Given the description of an element on the screen output the (x, y) to click on. 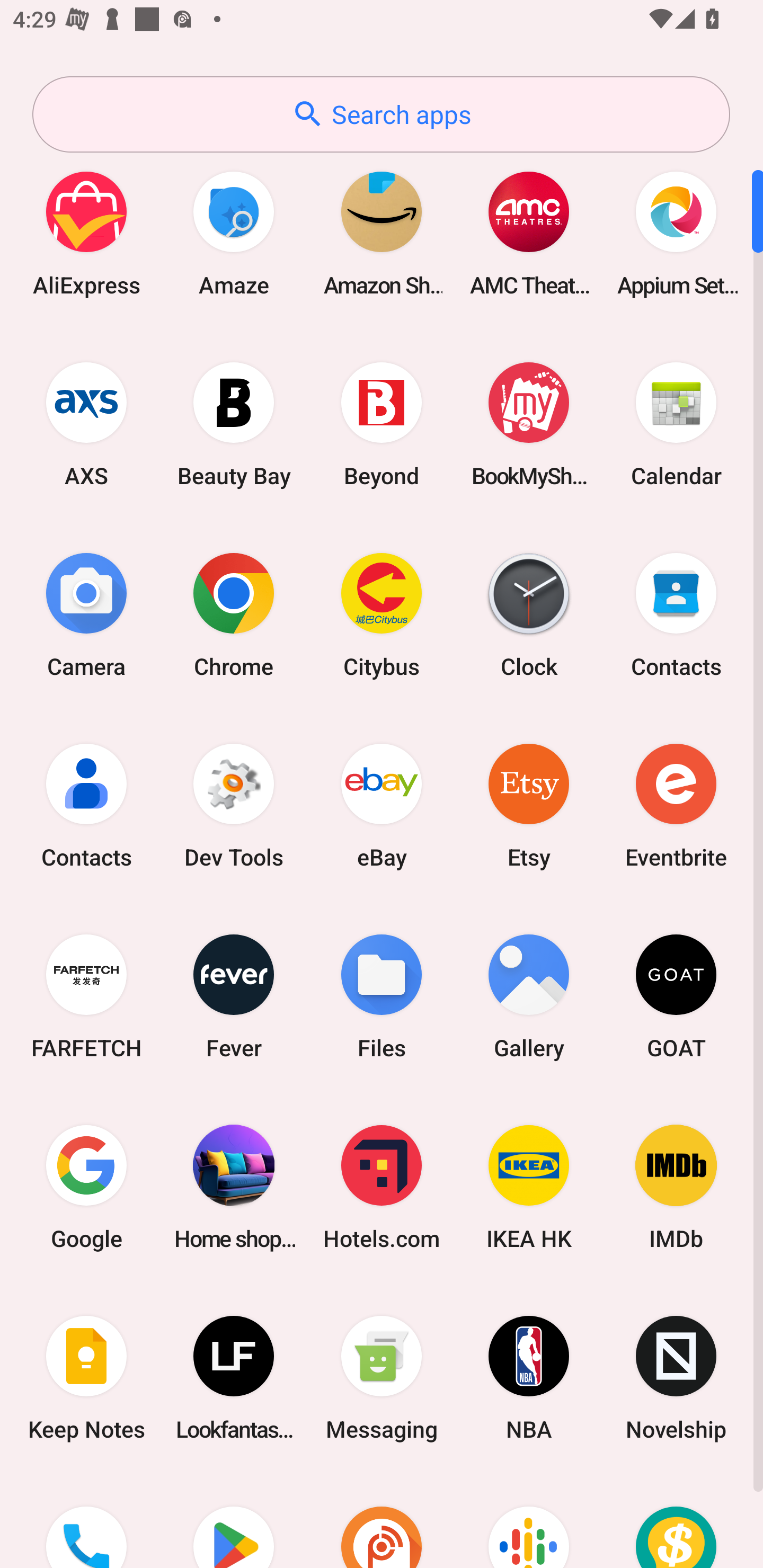
  Search apps (381, 114)
AliExpress (86, 233)
Amaze (233, 233)
Amazon Shopping (381, 233)
AMC Theatres (528, 233)
Appium Settings (676, 233)
AXS (86, 424)
Beauty Bay (233, 424)
Beyond (381, 424)
BookMyShow (528, 424)
Calendar (676, 424)
Camera (86, 614)
Chrome (233, 614)
Citybus (381, 614)
Clock (528, 614)
Contacts (676, 614)
Contacts (86, 805)
Dev Tools (233, 805)
eBay (381, 805)
Etsy (528, 805)
Eventbrite (676, 805)
FARFETCH (86, 996)
Fever (233, 996)
Files (381, 996)
Gallery (528, 996)
GOAT (676, 996)
Google (86, 1186)
Home shopping (233, 1186)
Hotels.com (381, 1186)
IKEA HK (528, 1186)
IMDb (676, 1186)
Keep Notes (86, 1377)
Lookfantastic (233, 1377)
Messaging (381, 1377)
NBA (528, 1377)
Novelship (676, 1377)
Phone (86, 1520)
Play Store (233, 1520)
Podcast Addict (381, 1520)
Podcasts (528, 1520)
Price (676, 1520)
